Given the description of an element on the screen output the (x, y) to click on. 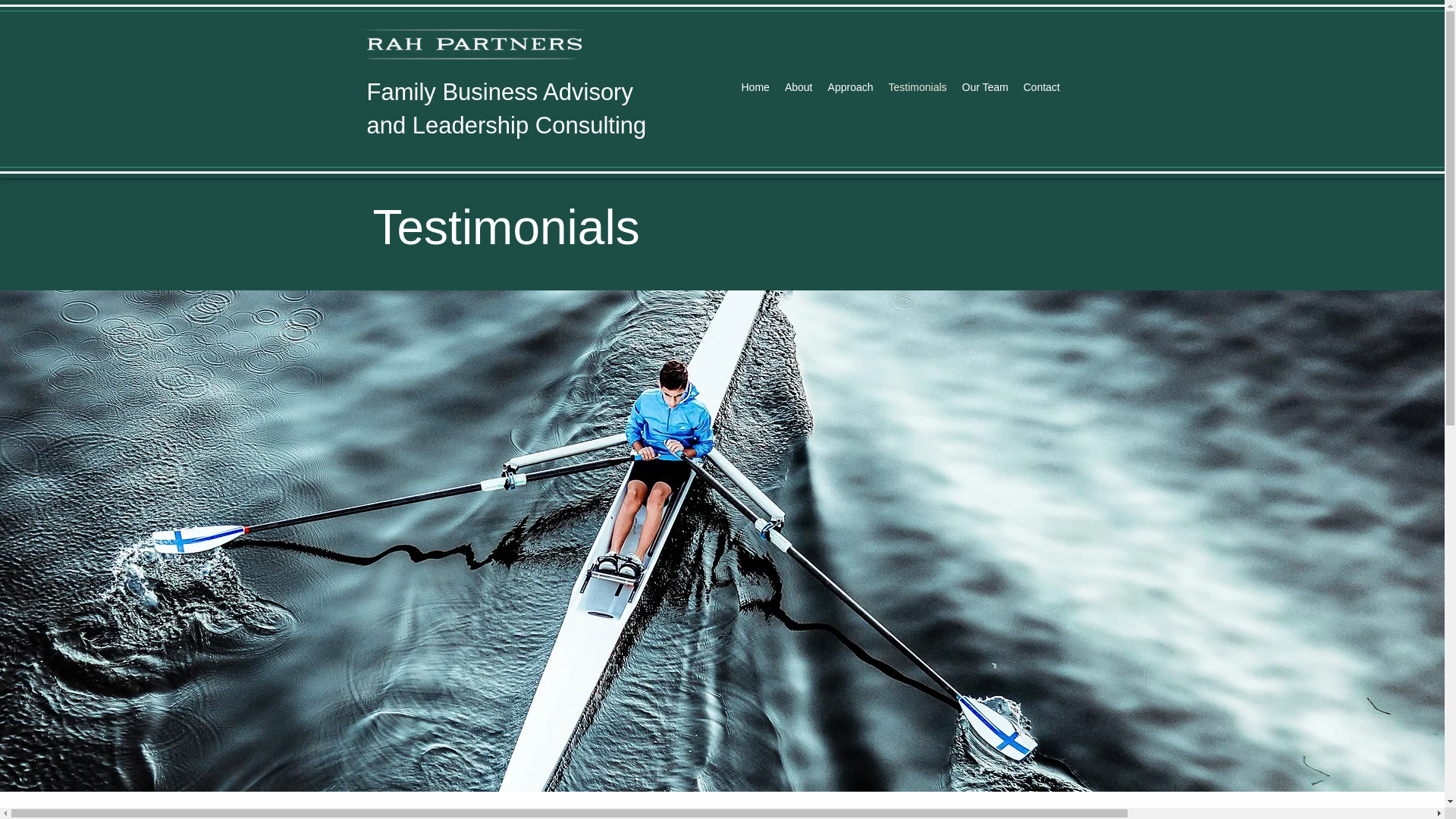
Home (755, 87)
Contact (506, 108)
About (1041, 87)
Approach (797, 87)
Testimonials (850, 87)
Our Team (917, 87)
